Given the description of an element on the screen output the (x, y) to click on. 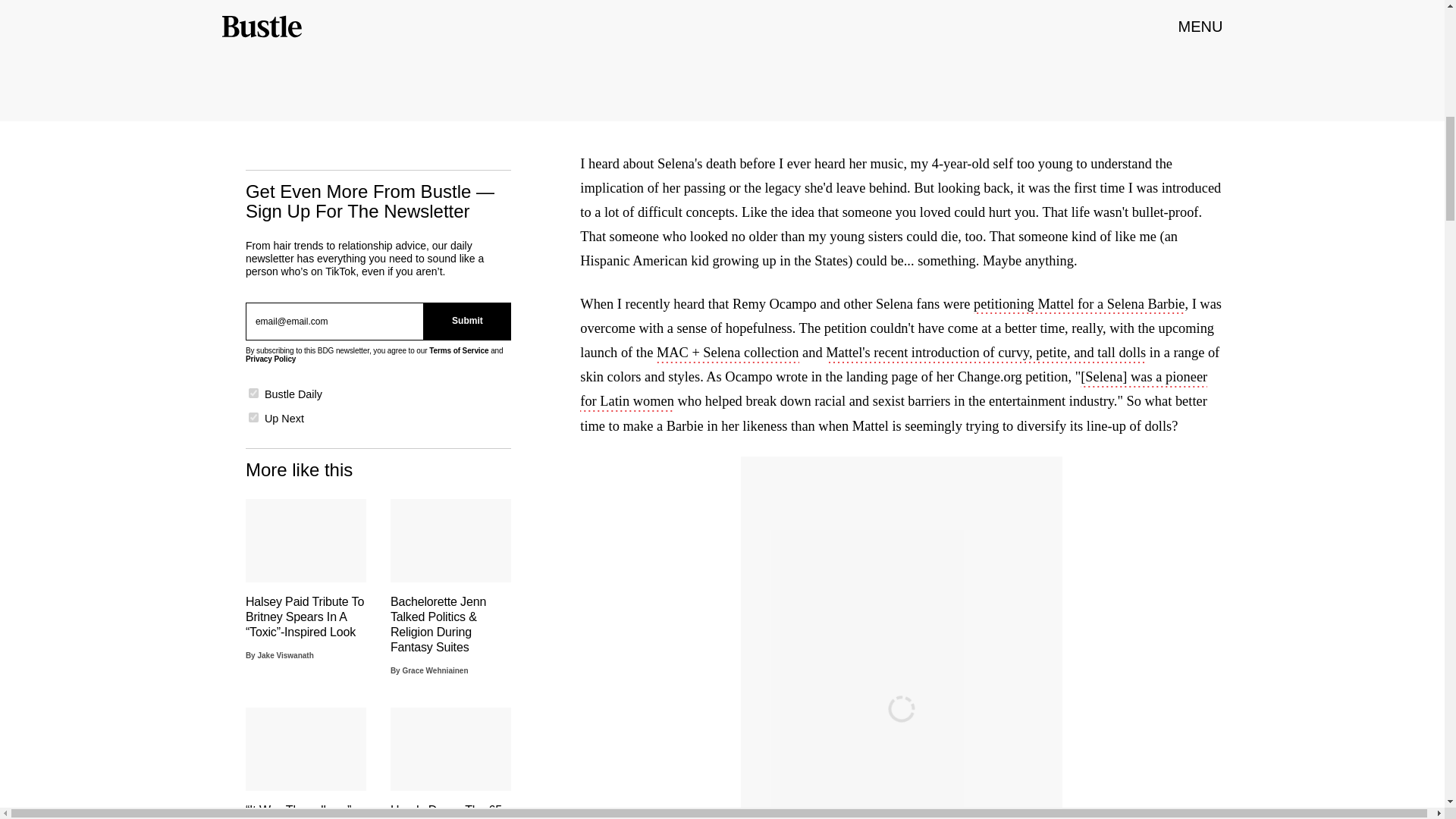
Submit (467, 321)
petitioning Mattel for a Selena Barbie (1079, 305)
Privacy Policy (270, 358)
Terms of Service (458, 350)
